Given the description of an element on the screen output the (x, y) to click on. 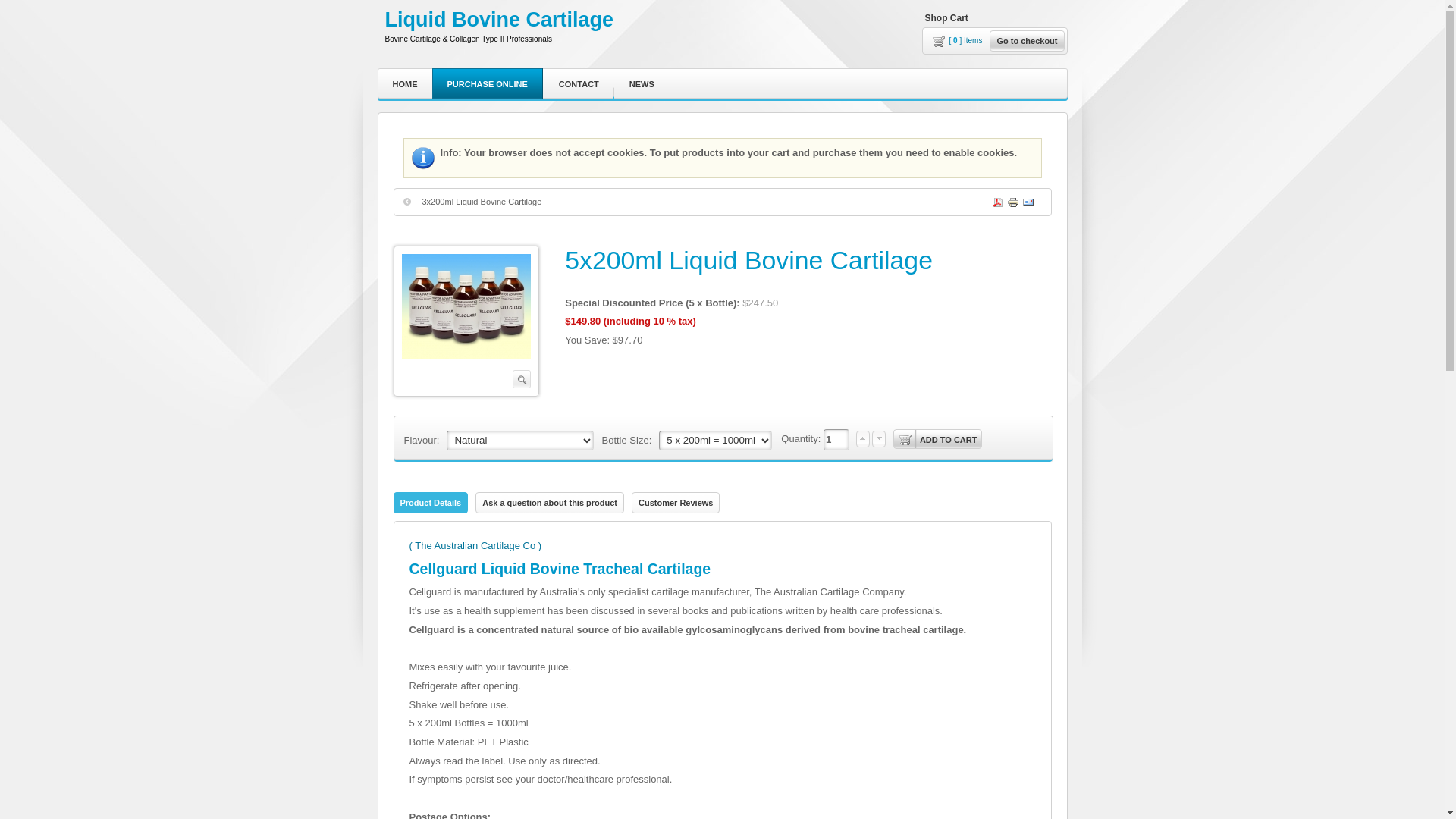
PURCHASE ONLINE Element type: text (487, 84)
HOME Element type: text (405, 84)
Add to Cart Element type: hover (937, 438)
( The Australian Cartilage Co ) Element type: text (475, 545)
CONTACT Element type: text (578, 84)
Add to Cart Element type: text (937, 438)
E-mail Element type: hover (1026, 197)
PDF Element type: hover (996, 197)
View Full-Size Image Element type: text (465, 321)
NEWS Element type: text (641, 84)
Print Element type: hover (1011, 197)
Go to checkout Element type: text (1026, 40)
Liquid Bovine Cartilage Element type: text (499, 19)
3x200ml Liquid Bovine Cartilage Element type: text (472, 201)
